Given the description of an element on the screen output the (x, y) to click on. 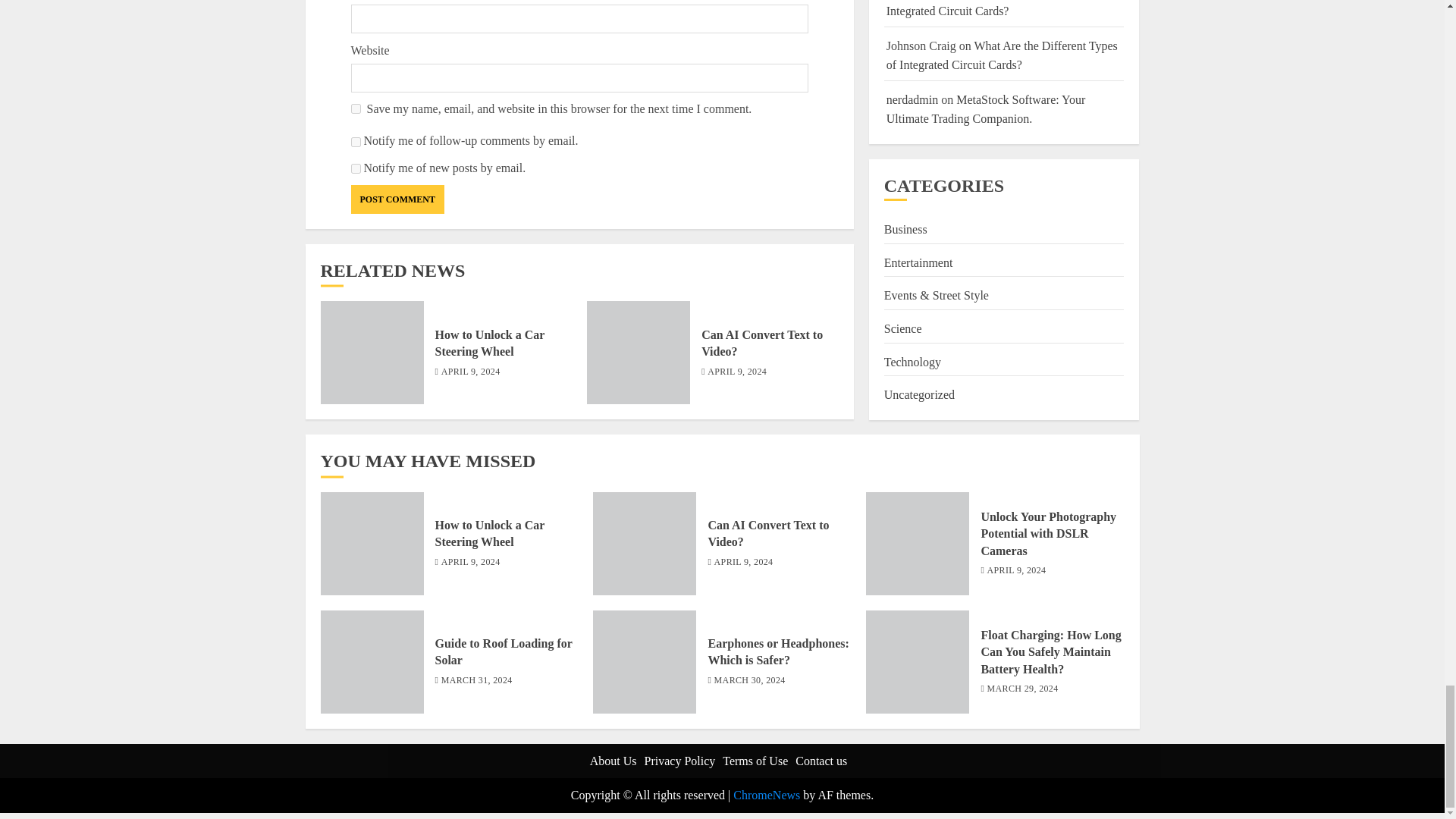
APRIL 9, 2024 (470, 372)
Post Comment (397, 199)
Can AI Convert Text to Video? (761, 343)
yes (354, 108)
subscribe (354, 168)
How to Unlock a Car Steering Wheel (489, 343)
APRIL 9, 2024 (737, 372)
Post Comment (397, 199)
subscribe (354, 142)
